Given the description of an element on the screen output the (x, y) to click on. 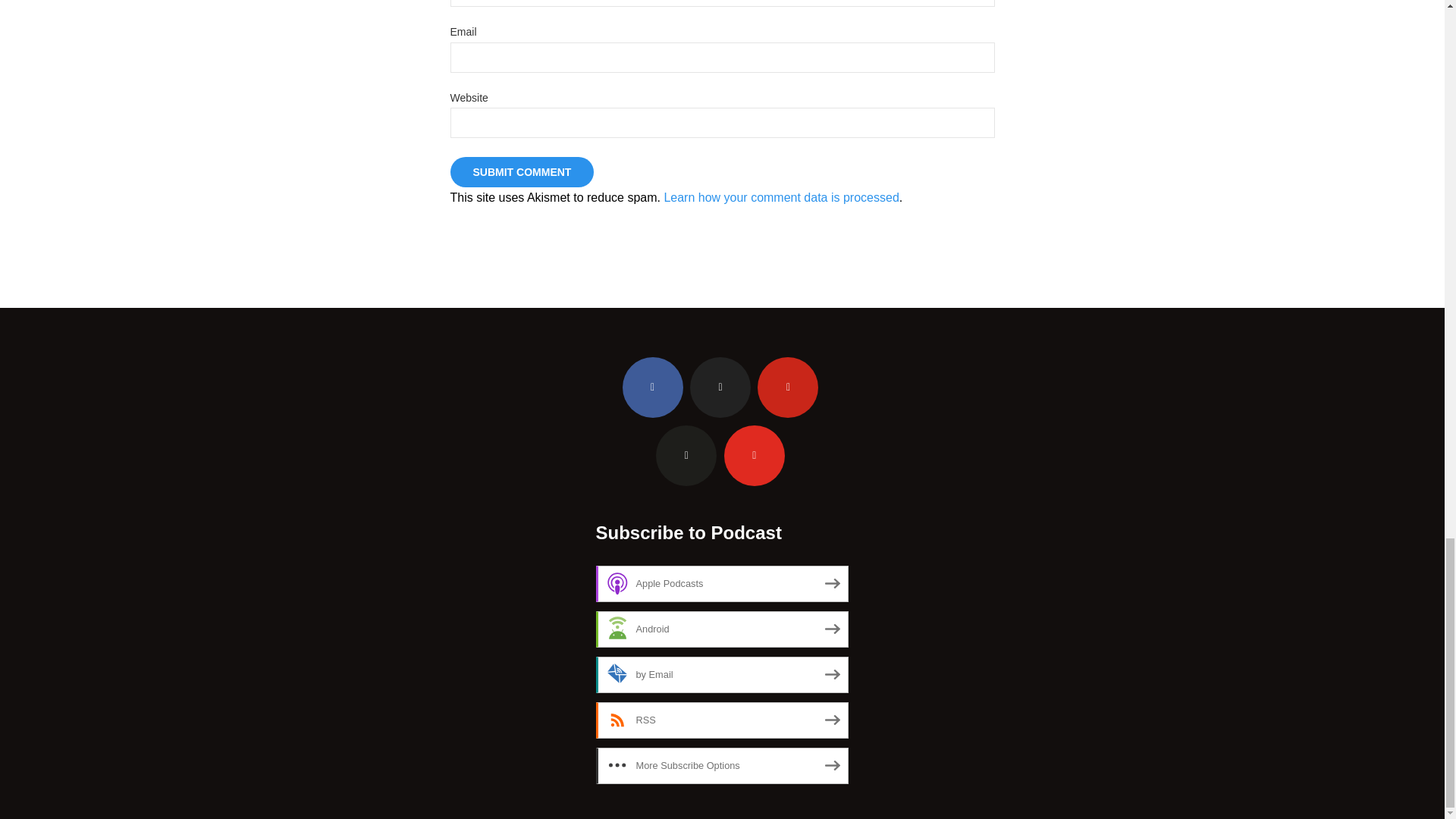
YouTube (753, 455)
flickr (686, 455)
Subscribe on Apple Podcasts (721, 583)
Submit Comment (521, 172)
Pinterest (787, 387)
Facebook (652, 387)
Submit Comment (521, 172)
